Given the description of an element on the screen output the (x, y) to click on. 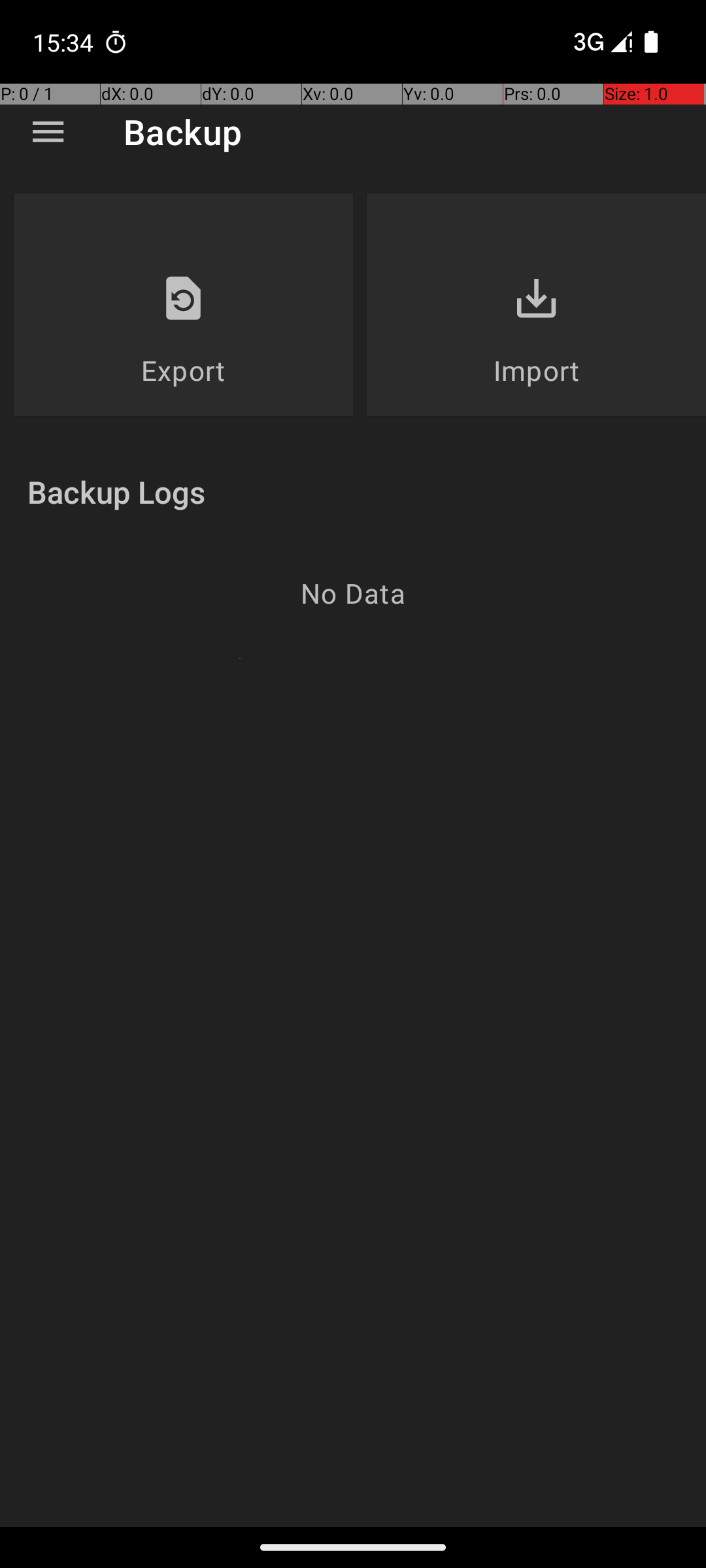
Backup Logs Element type: android.widget.TextView (116, 491)
No Data Element type: android.widget.TextView (352, 592)
Export Element type: android.widget.TextView (182, 369)
Import Element type: android.widget.TextView (535, 369)
